Given the description of an element on the screen output the (x, y) to click on. 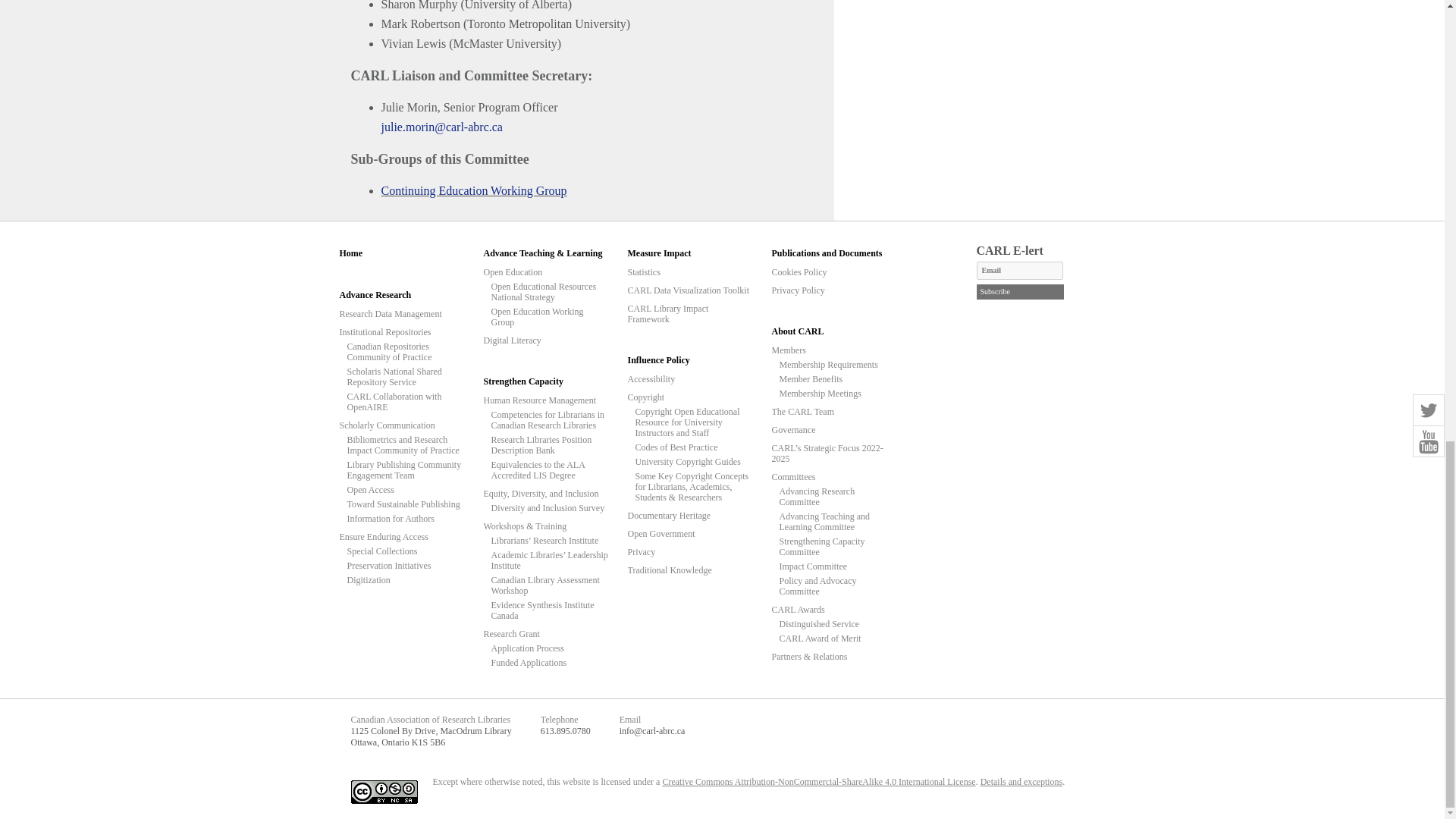
Subscribe (1020, 291)
